Given the description of an element on the screen output the (x, y) to click on. 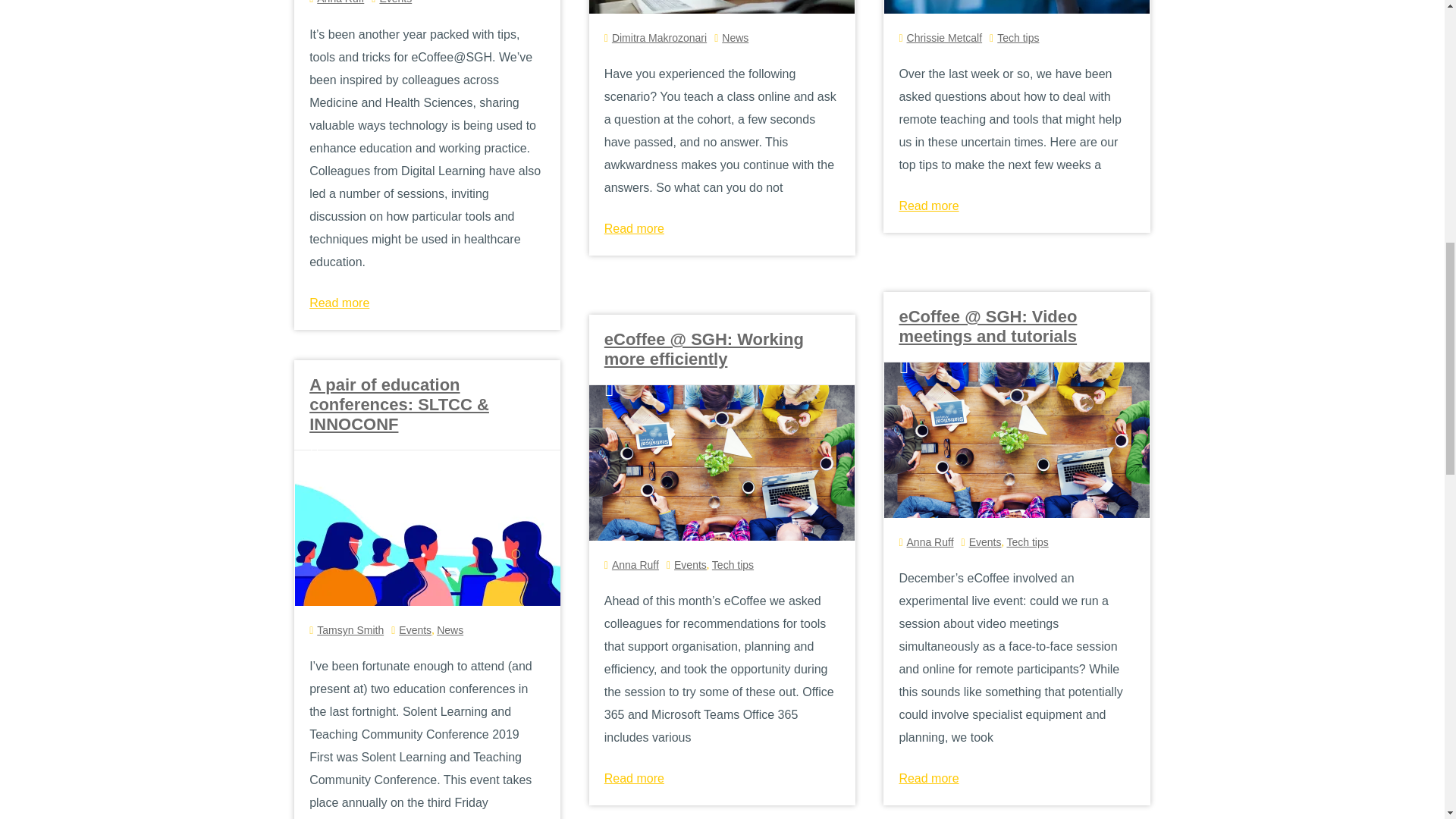
Read more (338, 302)
Anna Ruff (340, 2)
Dimitra Makrozonari (658, 37)
Events (395, 2)
